Given the description of an element on the screen output the (x, y) to click on. 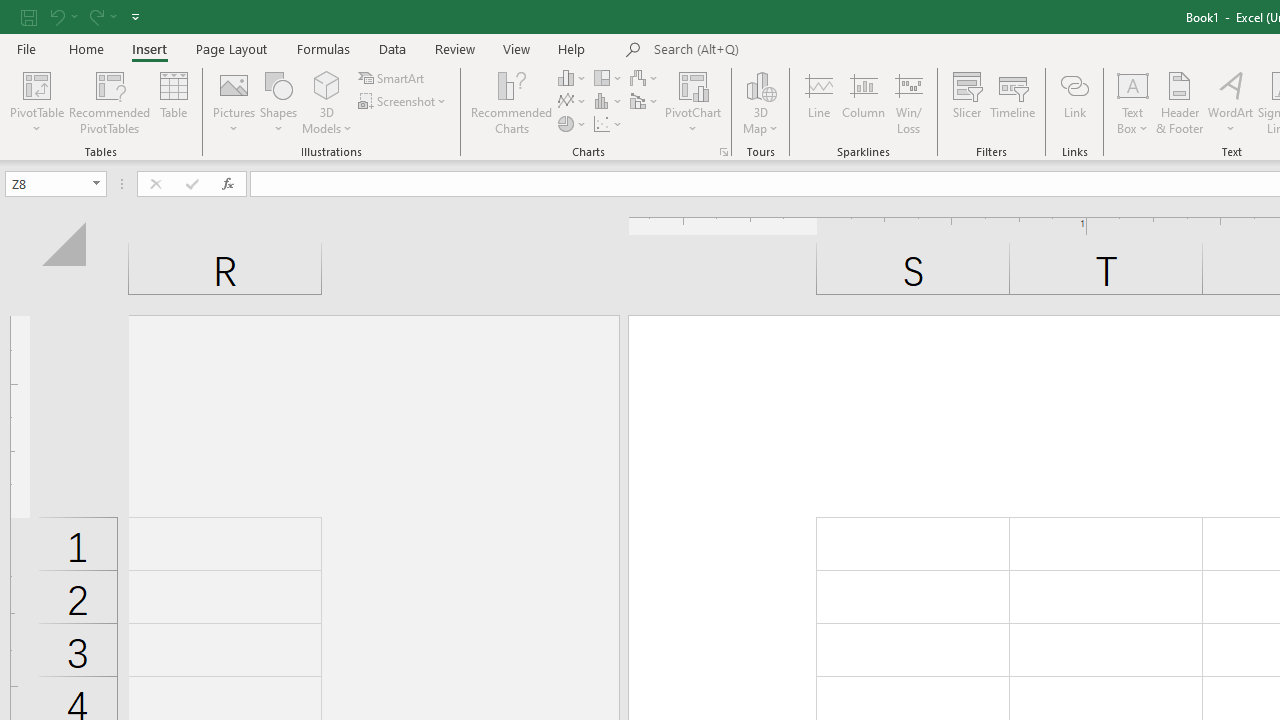
Link (1074, 102)
WordArt (1230, 102)
Insert Hierarchy Chart (609, 78)
Header & Footer... (1179, 102)
